Given the description of an element on the screen output the (x, y) to click on. 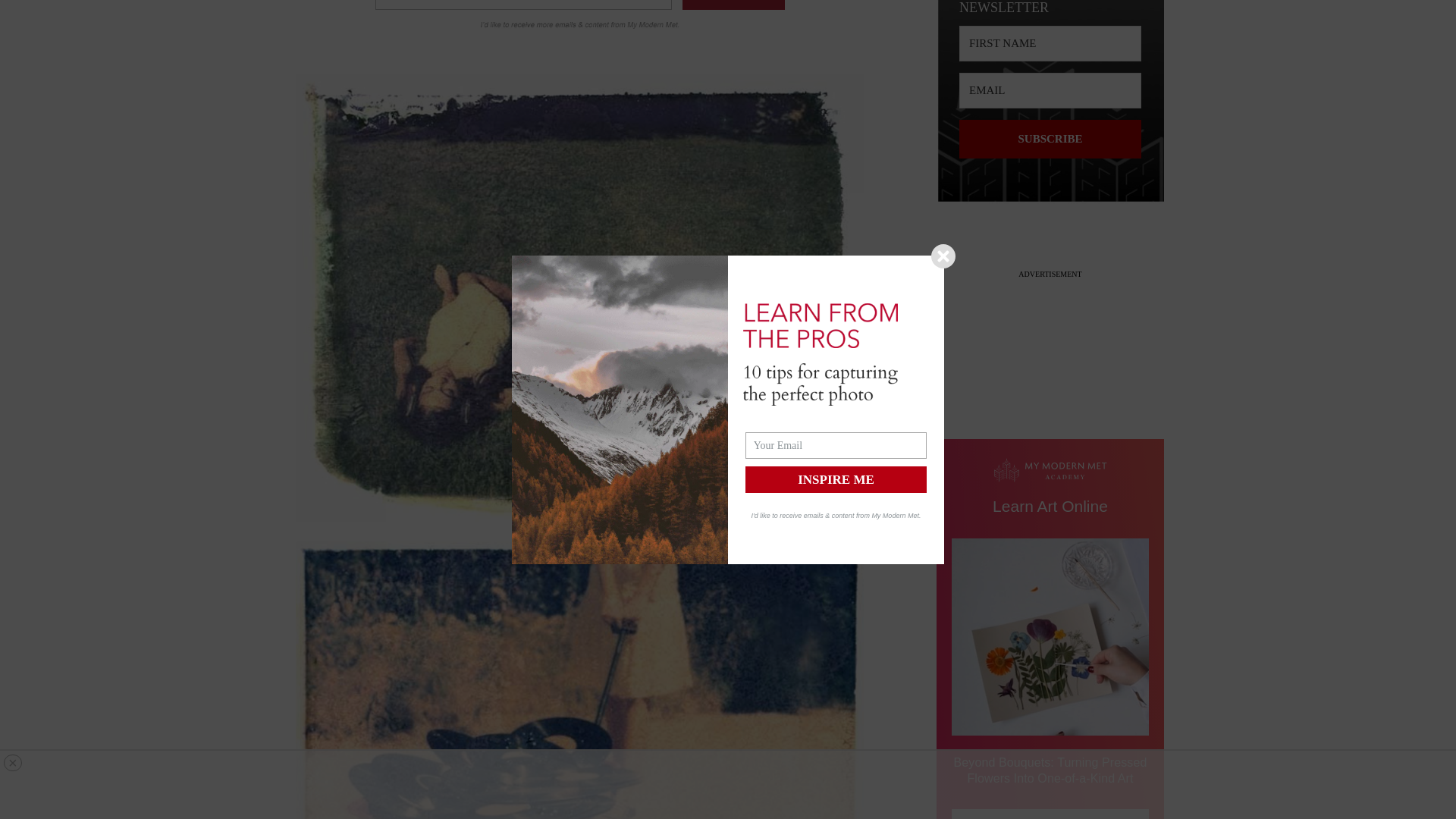
Go (733, 4)
